Given the description of an element on the screen output the (x, y) to click on. 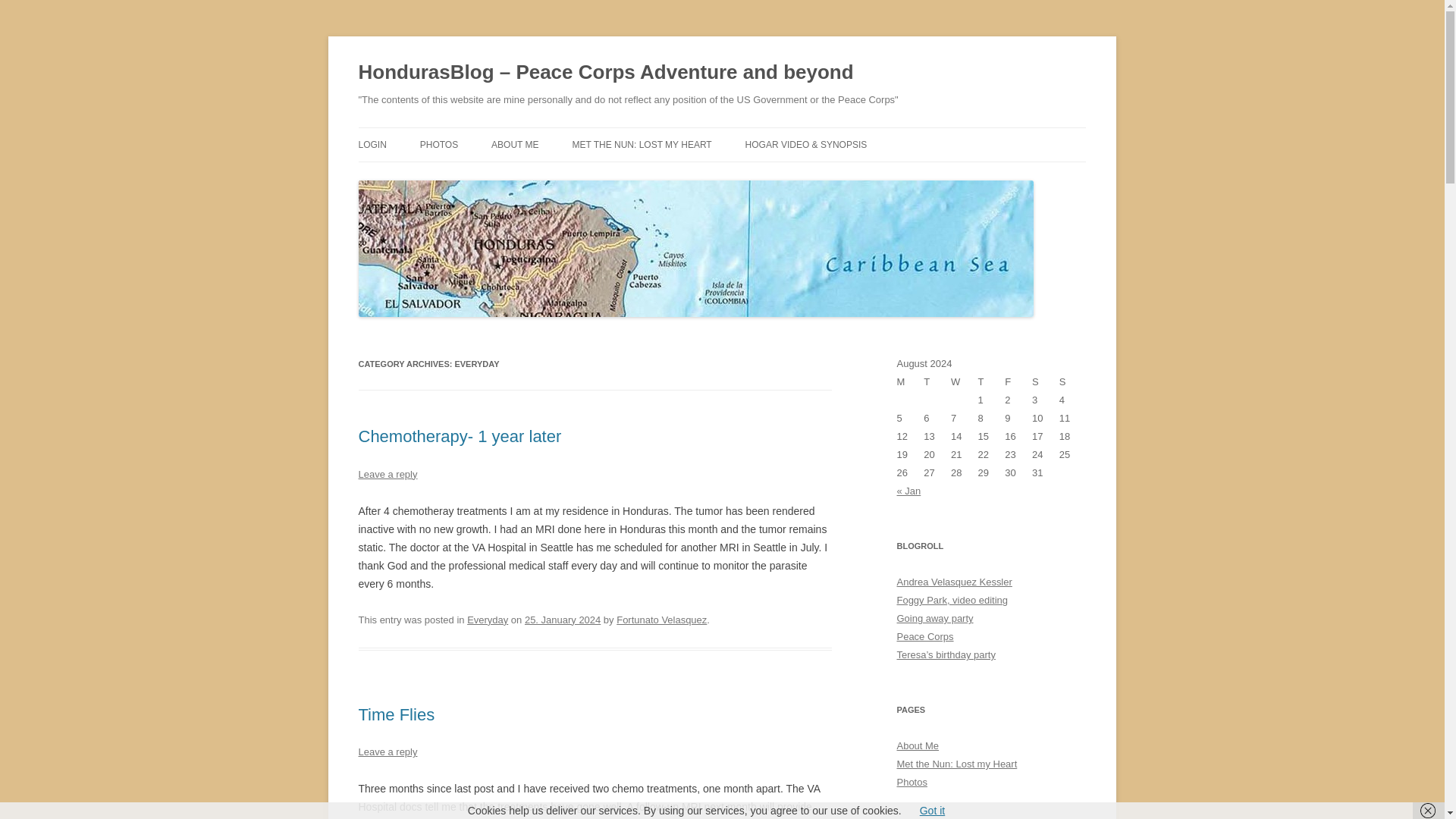
Fortunato Velasquez (660, 619)
Leave a reply (387, 473)
Leave a reply (387, 751)
ABOUT ME (515, 144)
Everyday (487, 619)
Time Flies (395, 714)
Chemotherapy- 1 year later (459, 435)
View all posts by Fortunato Velasquez (660, 619)
MET THE NUN: LOST MY HEART (641, 144)
